Given the description of an element on the screen output the (x, y) to click on. 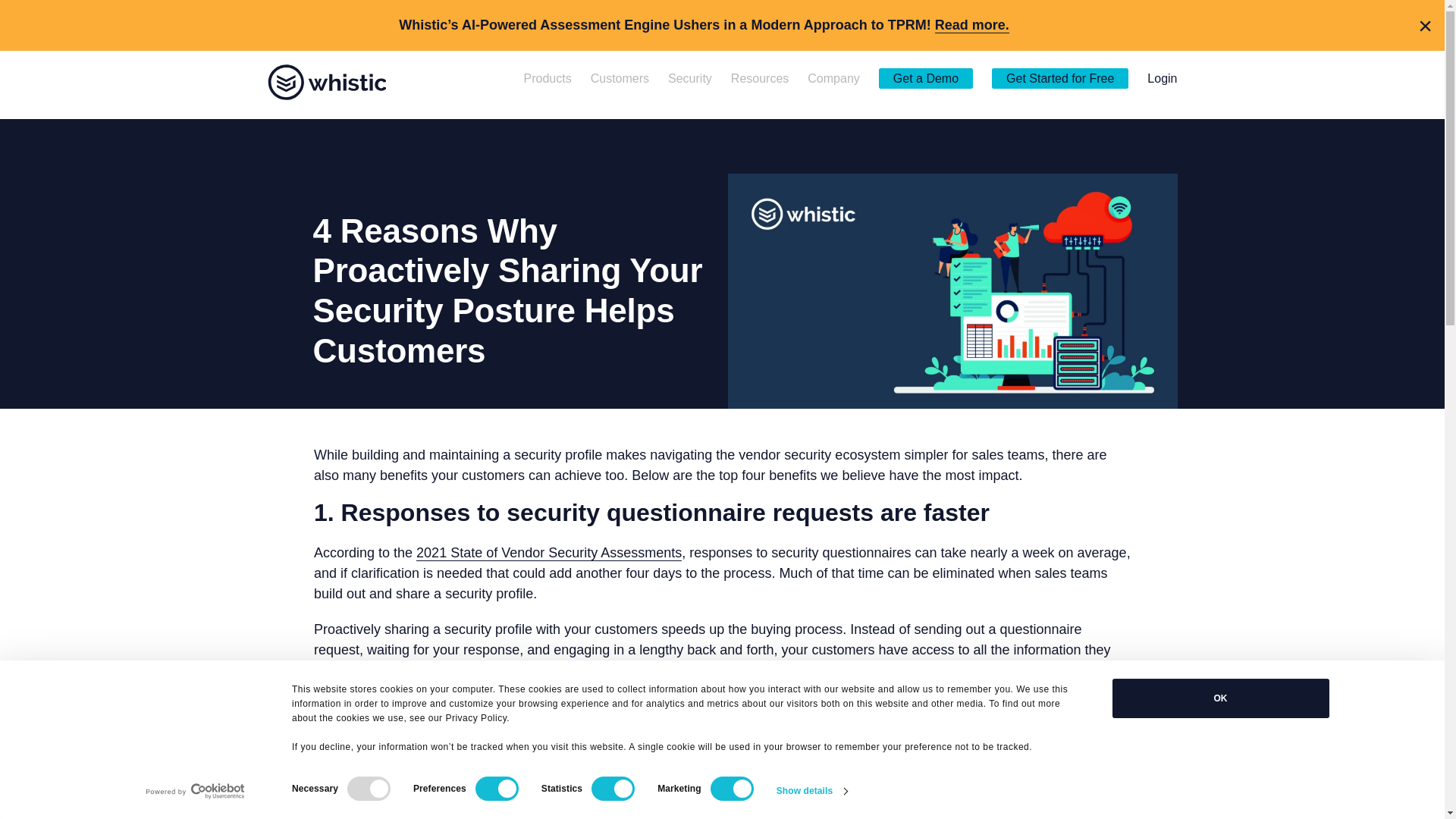
Show details (811, 791)
